Given the description of an element on the screen output the (x, y) to click on. 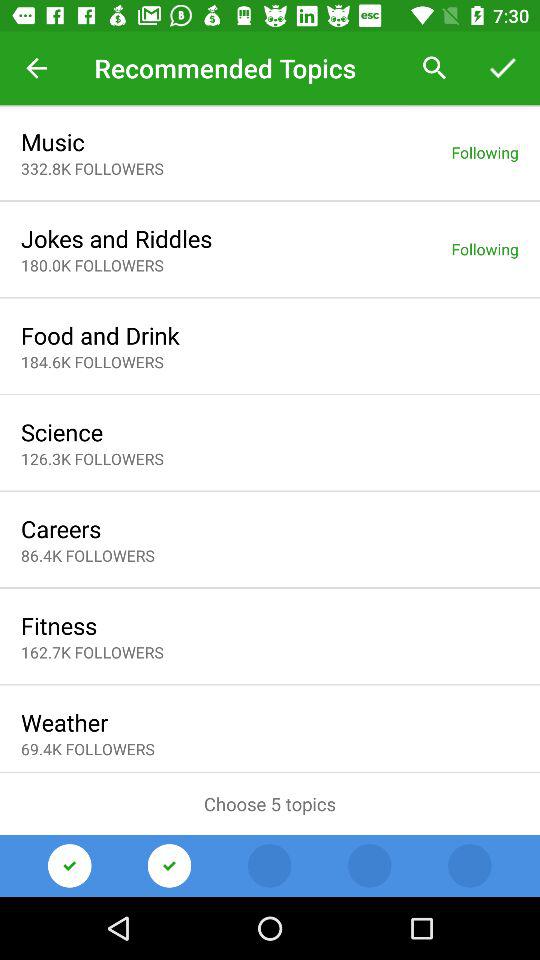
turn on the app next to recommended topics (434, 67)
